Given the description of an element on the screen output the (x, y) to click on. 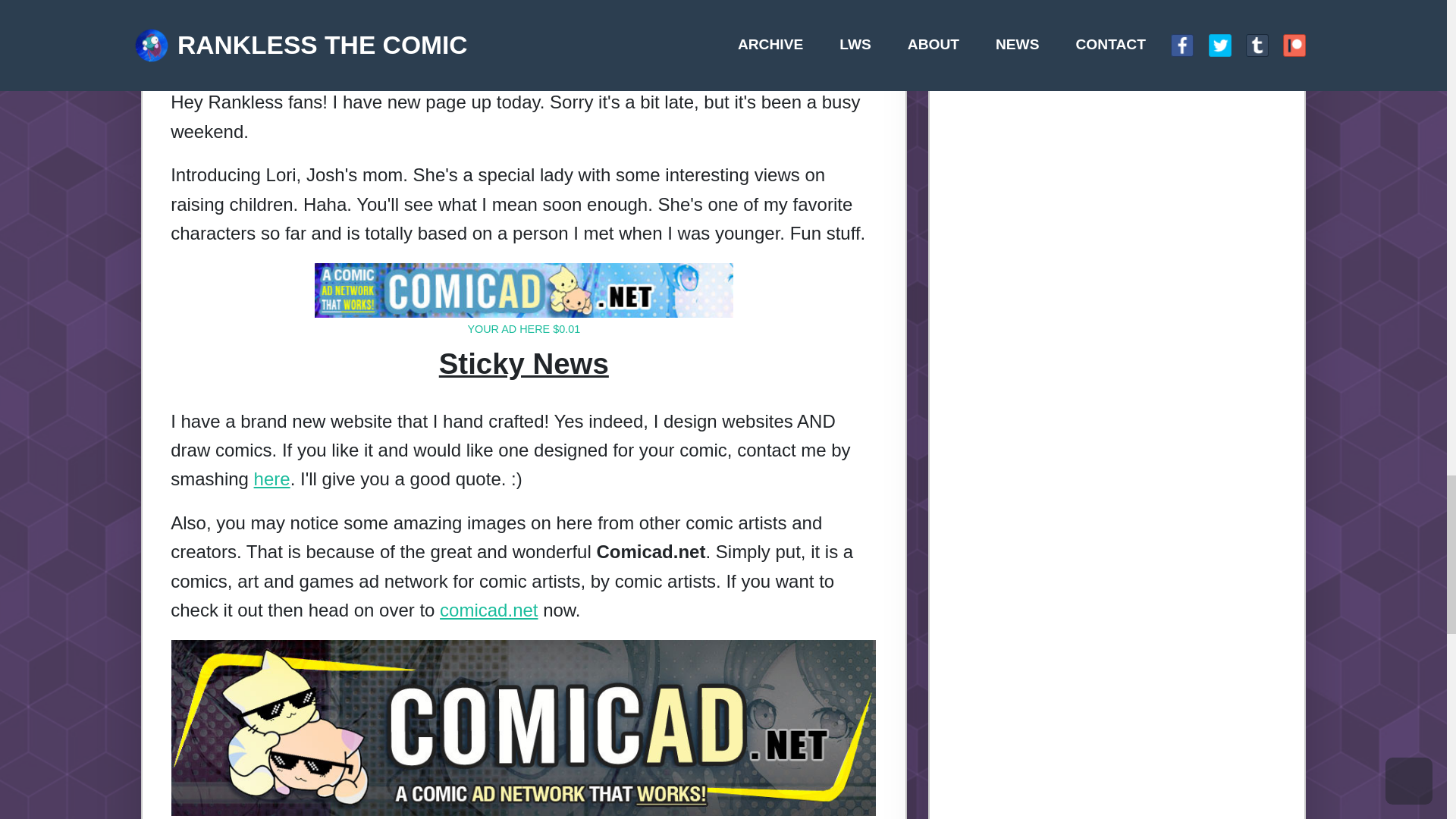
comicad network (407, 98)
comicad network (436, 196)
